Given the description of an element on the screen output the (x, y) to click on. 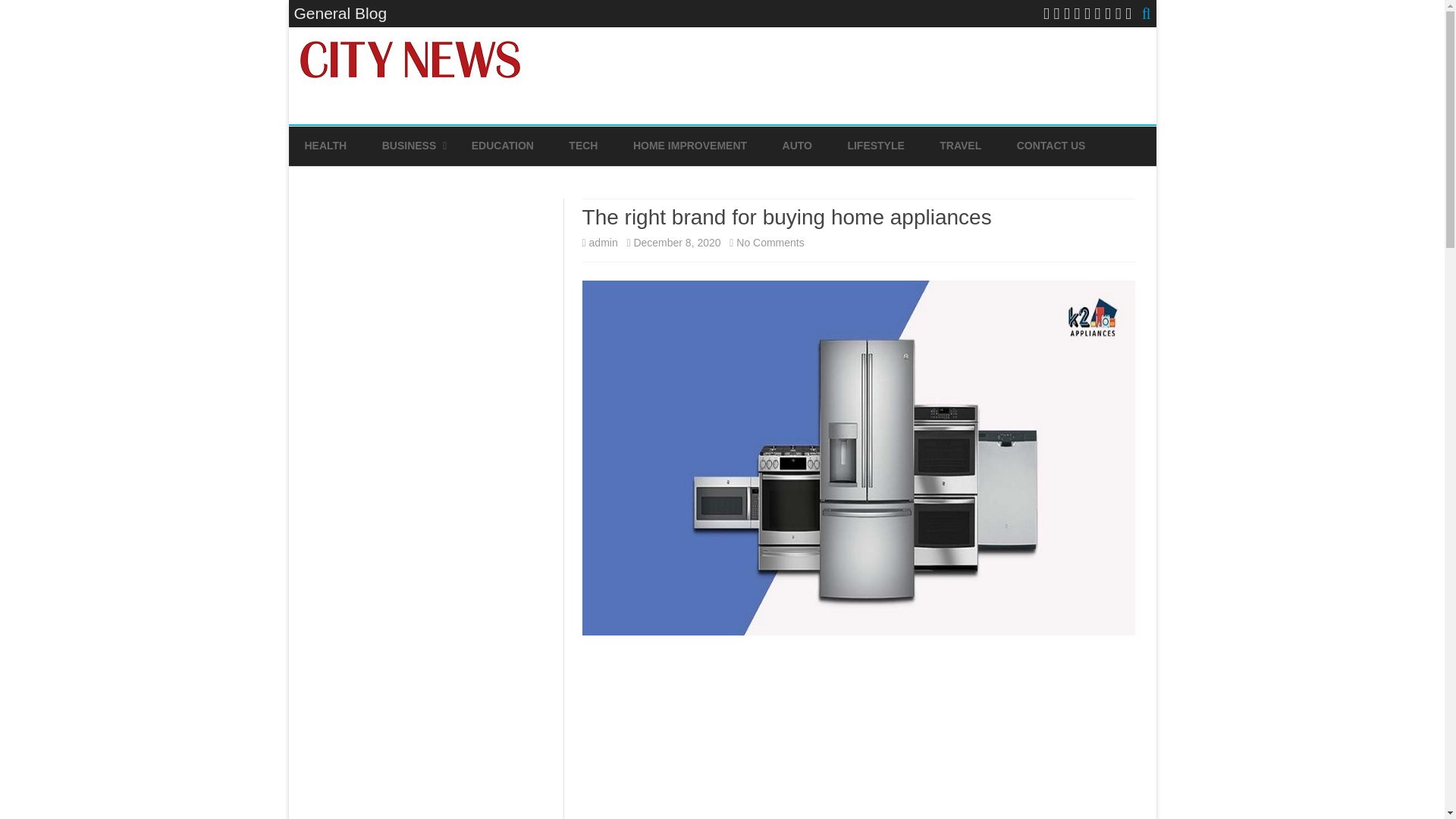
FINANCE (457, 181)
HEALTH (325, 146)
EDUCATION (502, 146)
BUSINESS (408, 146)
HOME IMPROVEMENT (689, 146)
LIFESTYLE (875, 146)
